Given the description of an element on the screen output the (x, y) to click on. 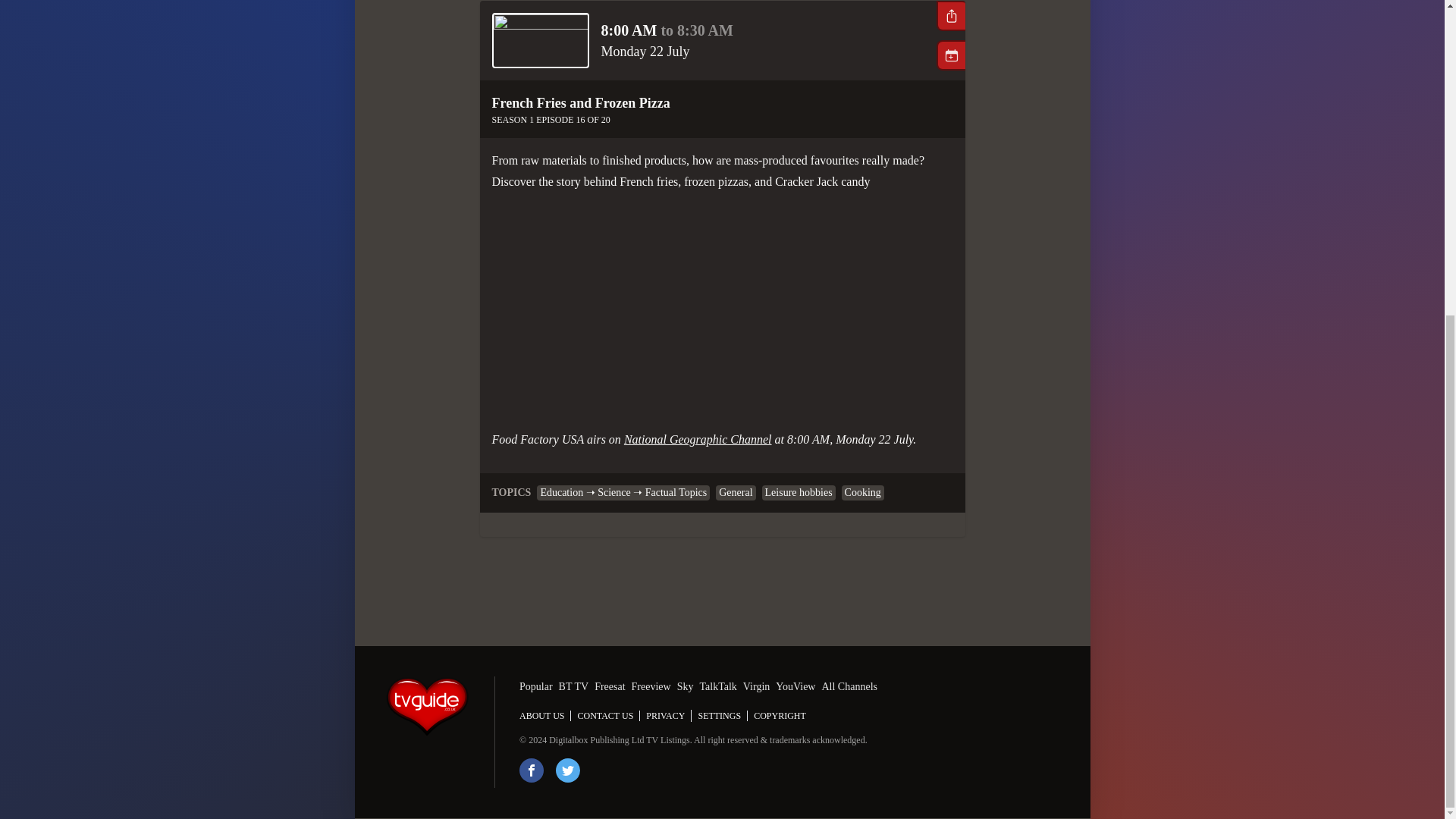
TVGuide.co.uk on Facebook (531, 770)
TVGuide.co.uk on Twitter (567, 770)
